Given the description of an element on the screen output the (x, y) to click on. 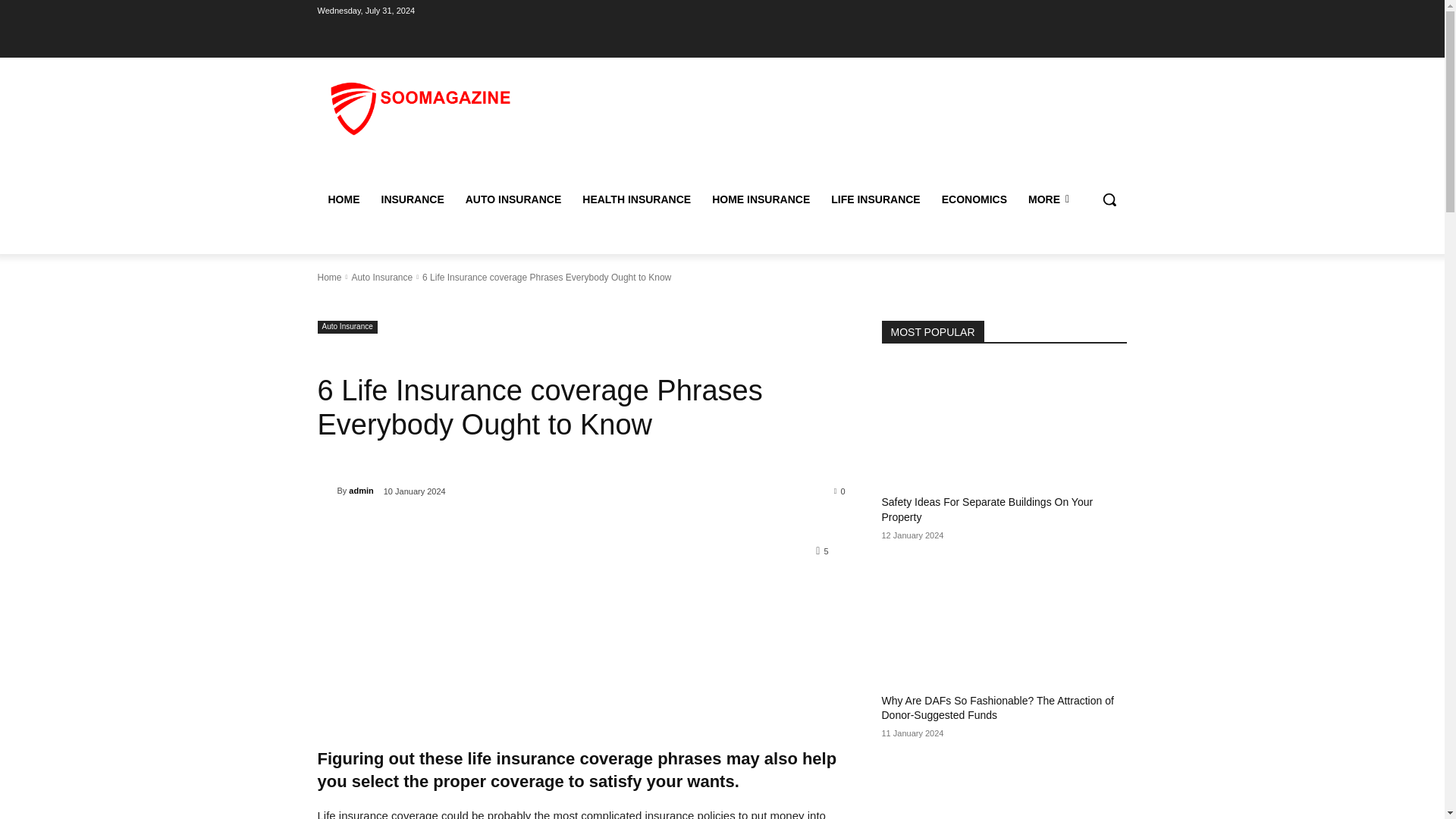
ECONOMICS (974, 198)
HOME INSURANCE (761, 198)
INSURANCE (411, 198)
admin (326, 490)
LIFE INSURANCE (875, 198)
Auto Insurance (381, 276)
MORE (1048, 198)
HEALTH INSURANCE (636, 198)
HOME (343, 198)
AUTO INSURANCE (513, 198)
View all posts in Auto Insurance (381, 276)
Home (328, 276)
